Given the description of an element on the screen output the (x, y) to click on. 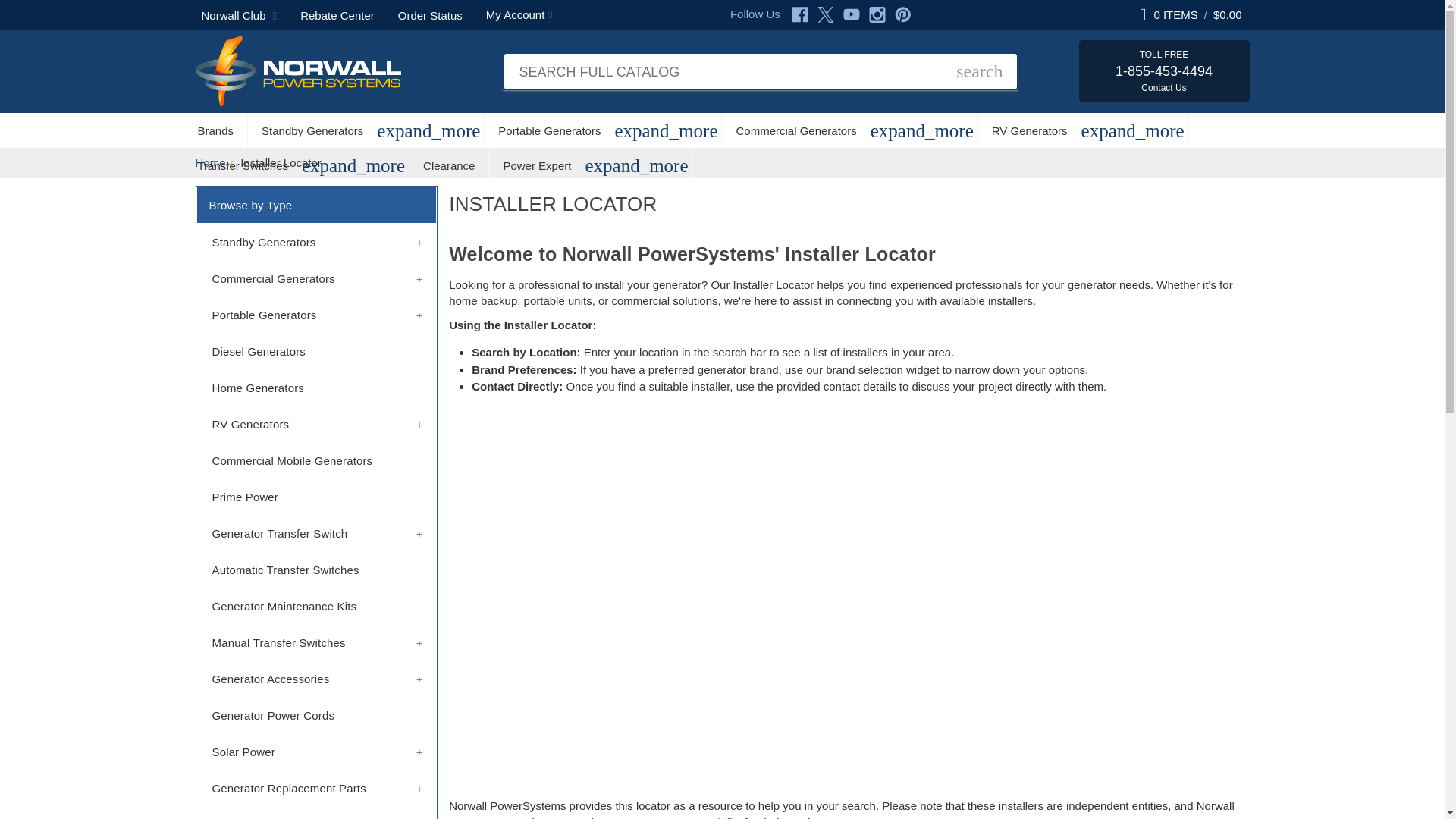
Order Status (429, 14)
My Account (519, 14)
Norwall Club (239, 14)
X (825, 14)
Call Norwall PowerSystems Toll Free at 1-855-453-4494 (1163, 71)
Youtube (851, 14)
Norwall PowerSystems (298, 71)
Rebate Center (337, 14)
Pinterest (902, 14)
Standby Generators (312, 130)
